Given the description of an element on the screen output the (x, y) to click on. 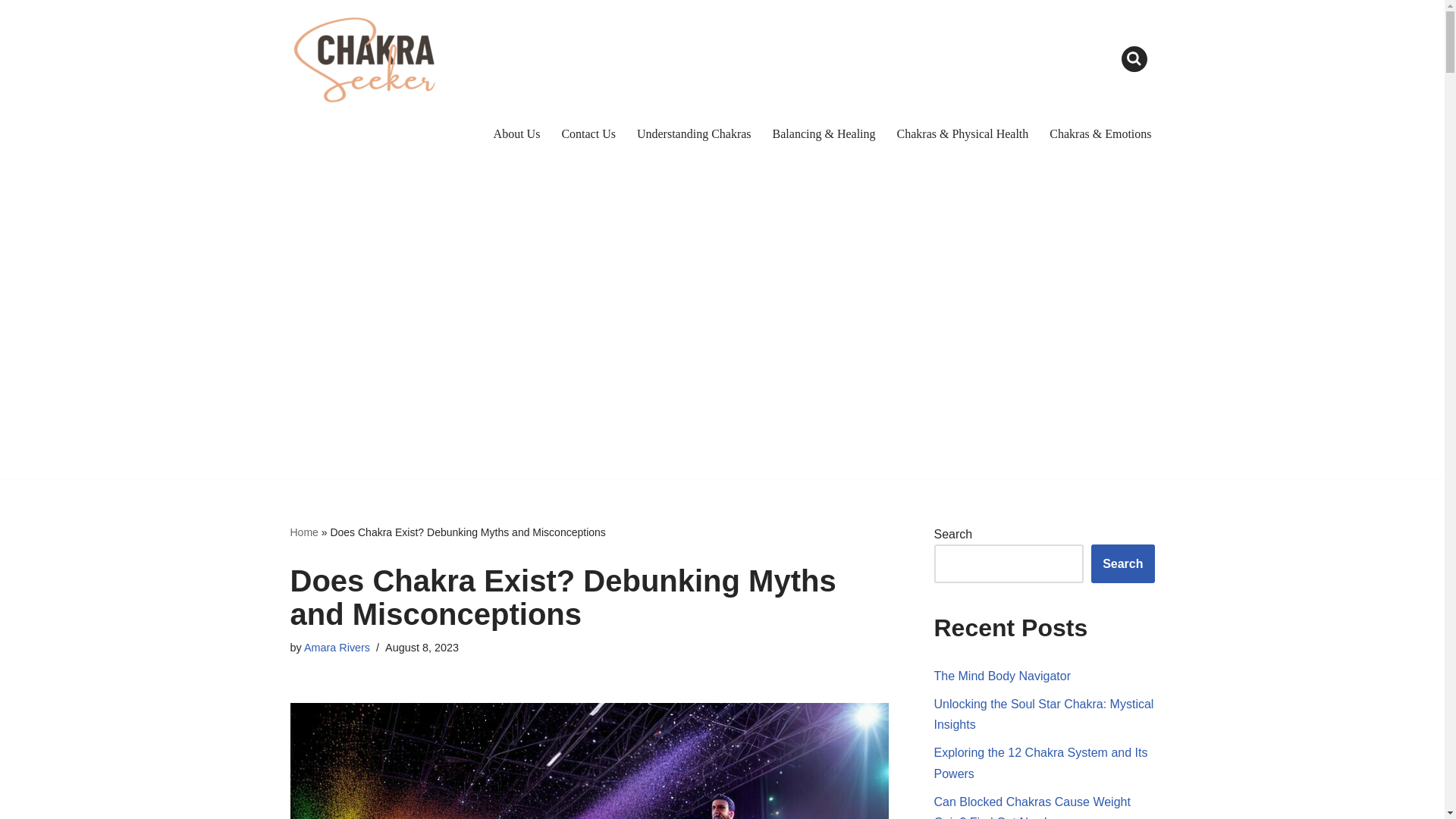
Amara Rivers (336, 647)
Contact Us (587, 133)
Home (303, 532)
Skip to content (11, 31)
Understanding Chakras (694, 133)
Posts by Amara Rivers (336, 647)
About Us (516, 133)
